Given the description of an element on the screen output the (x, y) to click on. 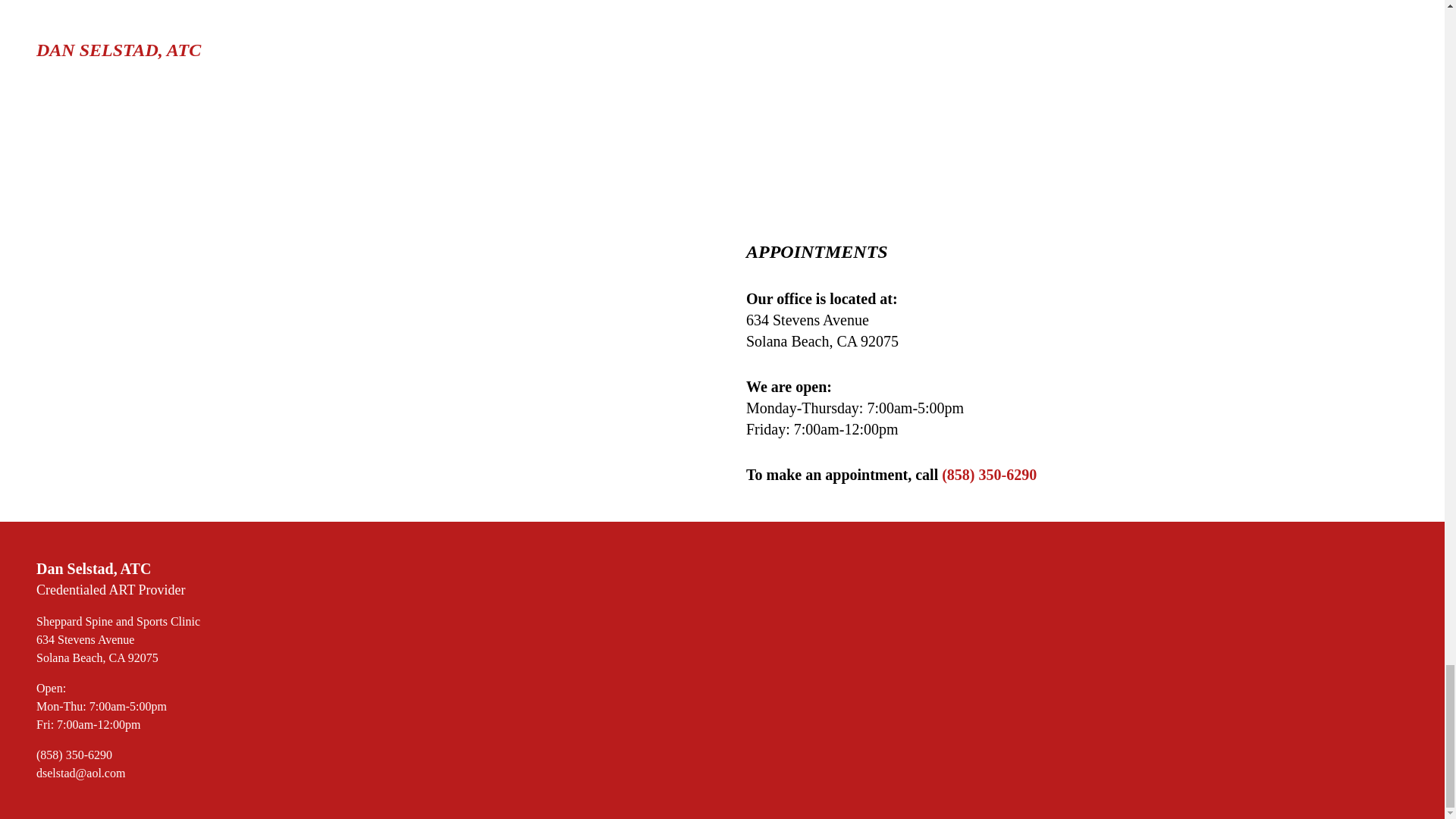
Sheppard Spine and Sports Clinic (118, 621)
